Given the description of an element on the screen output the (x, y) to click on. 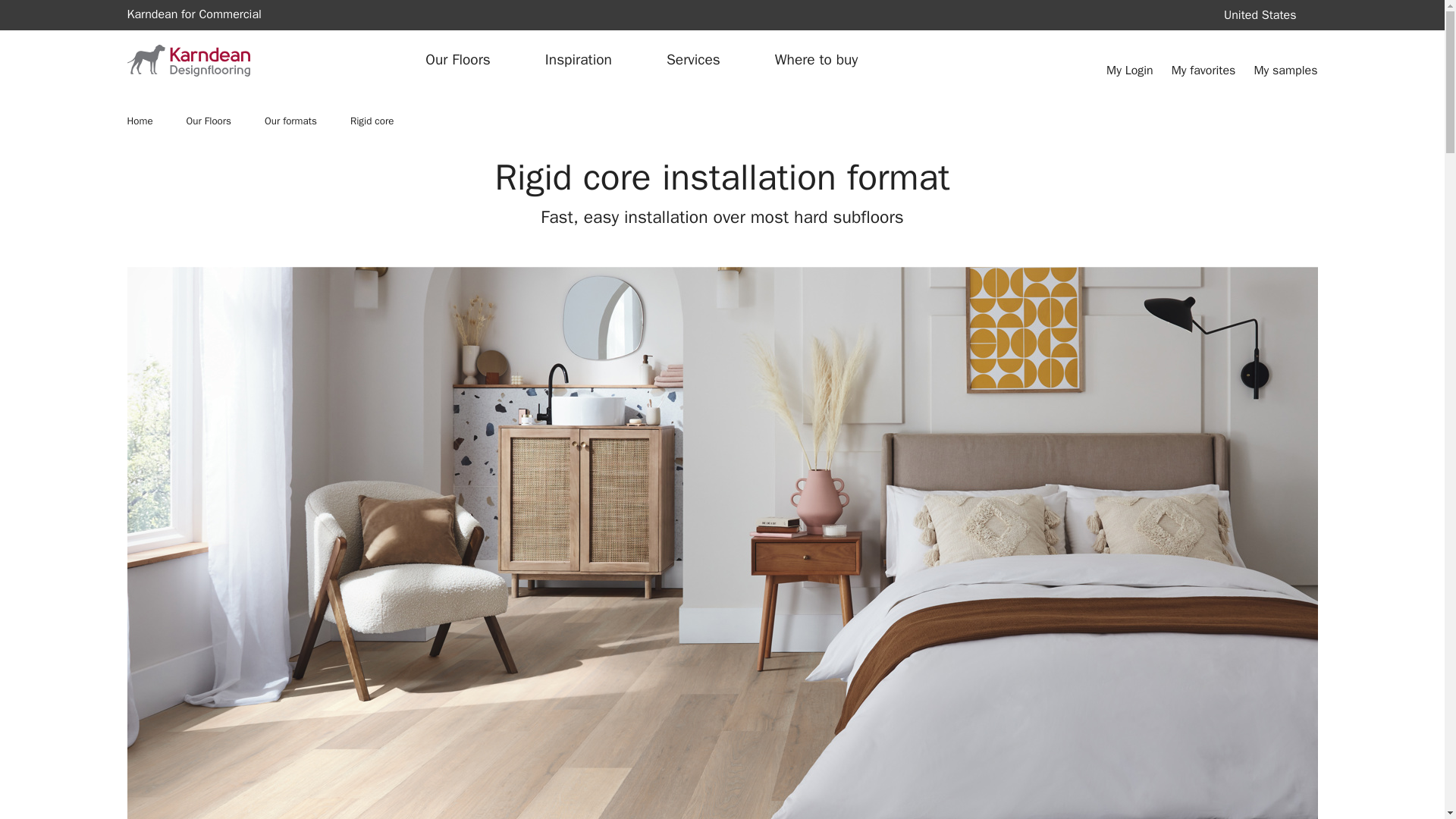
Our Floors (466, 60)
Karndean for Commercial (582, 120)
Inspiration (206, 14)
